Given the description of an element on the screen output the (x, y) to click on. 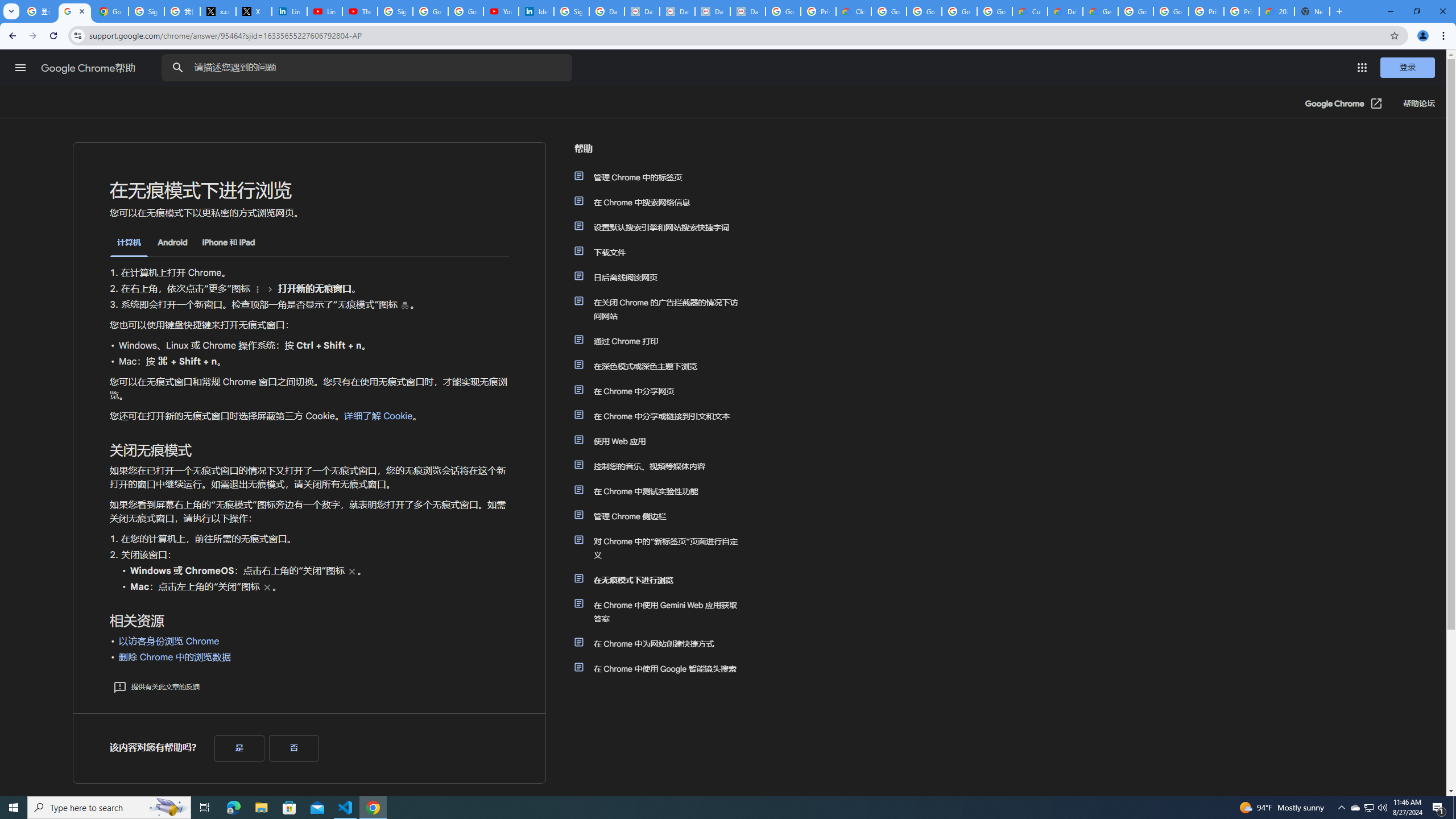
Data Privacy Framework (747, 11)
New Tab (1312, 11)
Data Privacy Framework (641, 11)
